Given the description of an element on the screen output the (x, y) to click on. 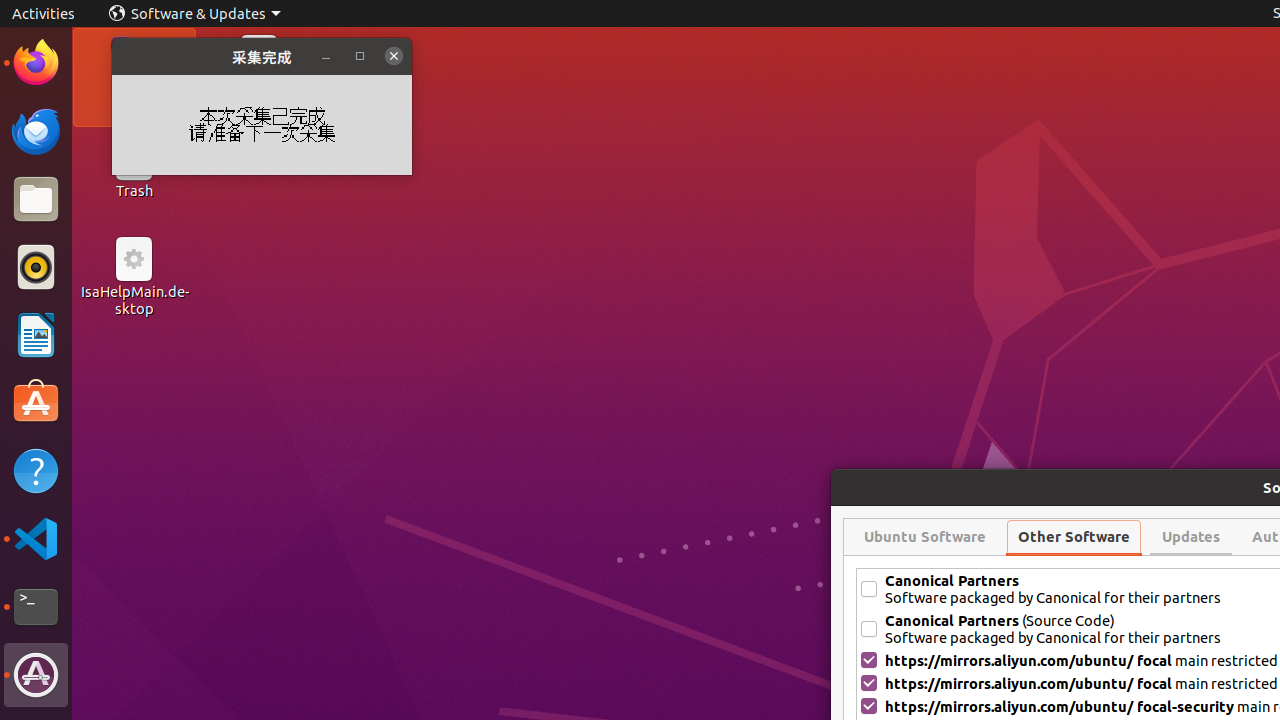
li.txt Element type: label (259, 89)
Other Software Element type: page-tab (1074, 537)
Activities Element type: label (43, 13)
